Given the description of an element on the screen output the (x, y) to click on. 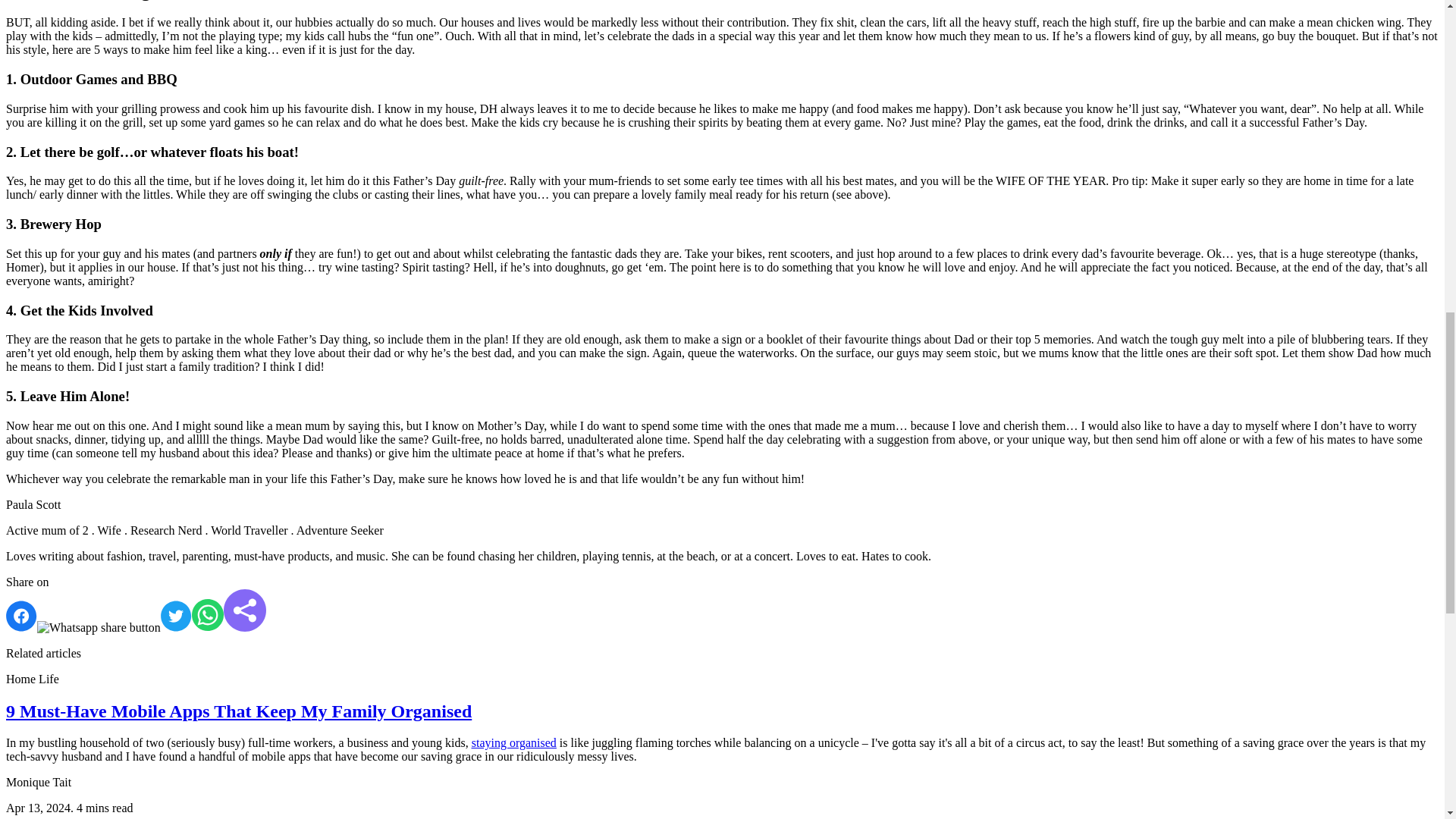
staying organised (513, 742)
